Given the description of an element on the screen output the (x, y) to click on. 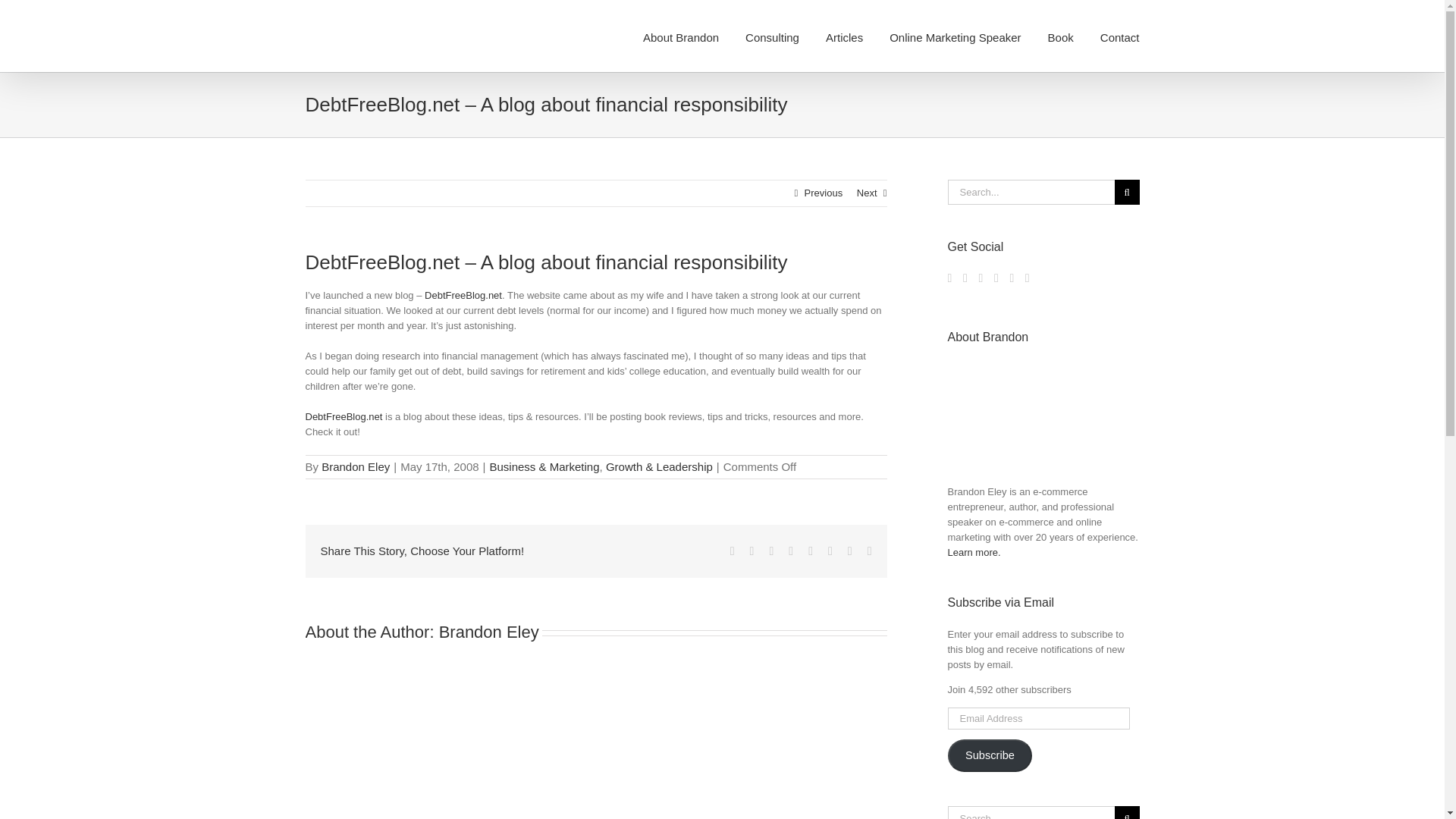
Online Marketing Speaker (954, 36)
DebtFreeBlog.net (342, 416)
Previous (824, 193)
DebtFreeBlog.net (463, 295)
About Brandon (681, 36)
Learn more. (974, 552)
Subscribe (989, 756)
Posts by Brandon Eley (355, 466)
Brandon Eley (488, 631)
Posts by Brandon Eley (488, 631)
Brandon Eley (355, 466)
